Given the description of an element on the screen output the (x, y) to click on. 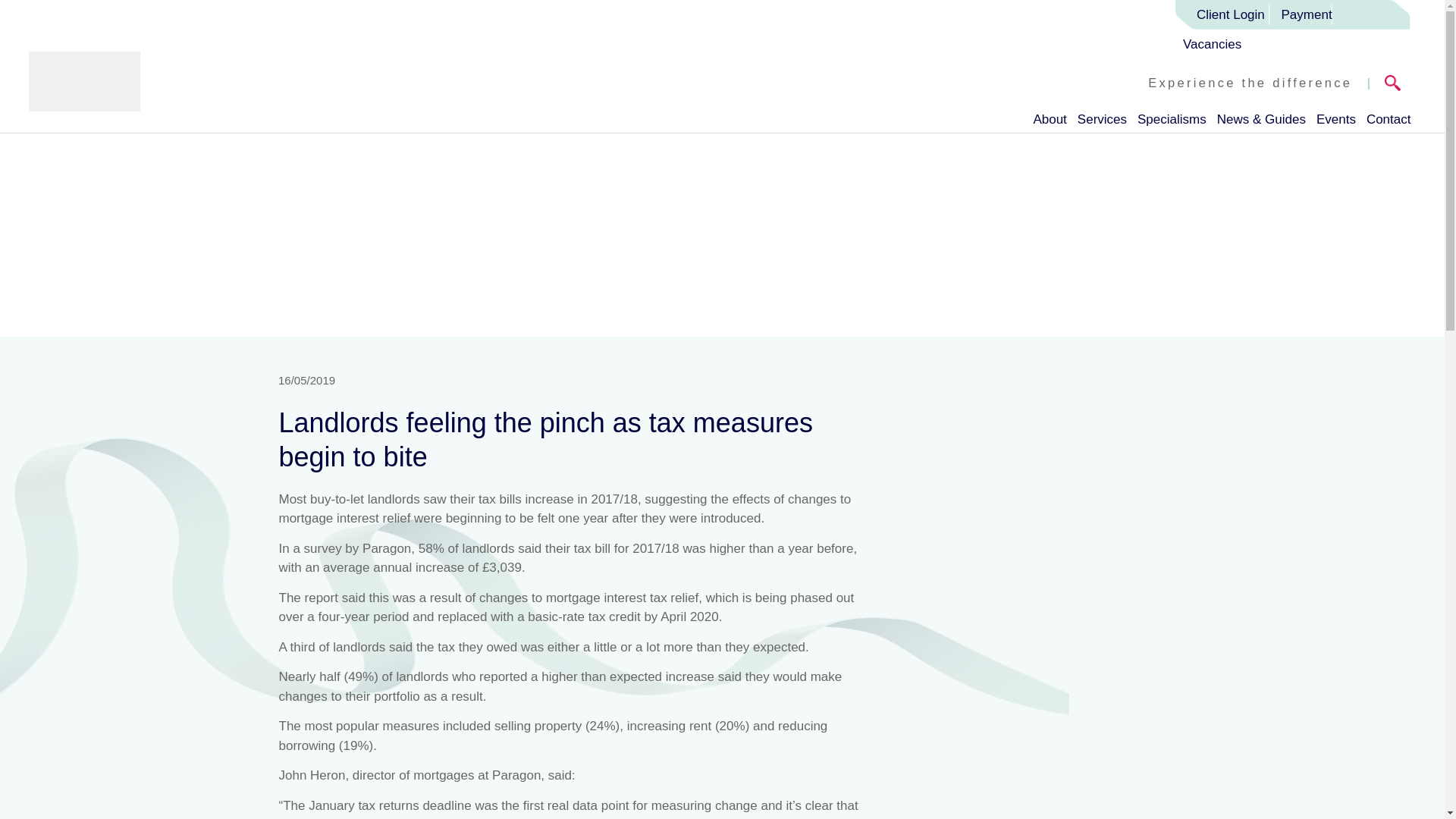
Client Login (1223, 14)
About (1048, 116)
Vacancies (1215, 43)
Services (1101, 116)
Payment (1307, 14)
Specialisms (1172, 116)
